Given the description of an element on the screen output the (x, y) to click on. 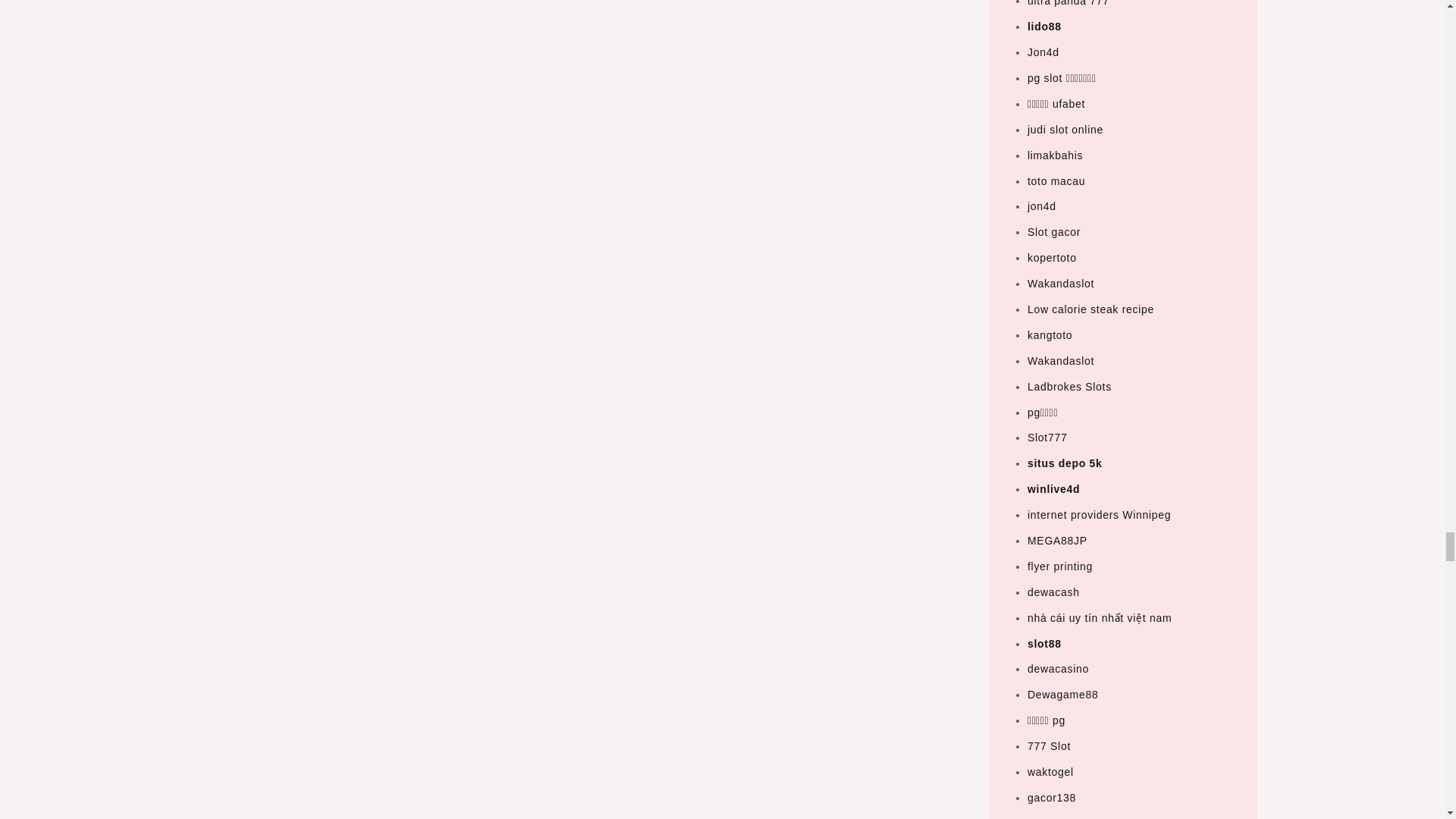
limakbahis (1055, 155)
